Given the description of an element on the screen output the (x, y) to click on. 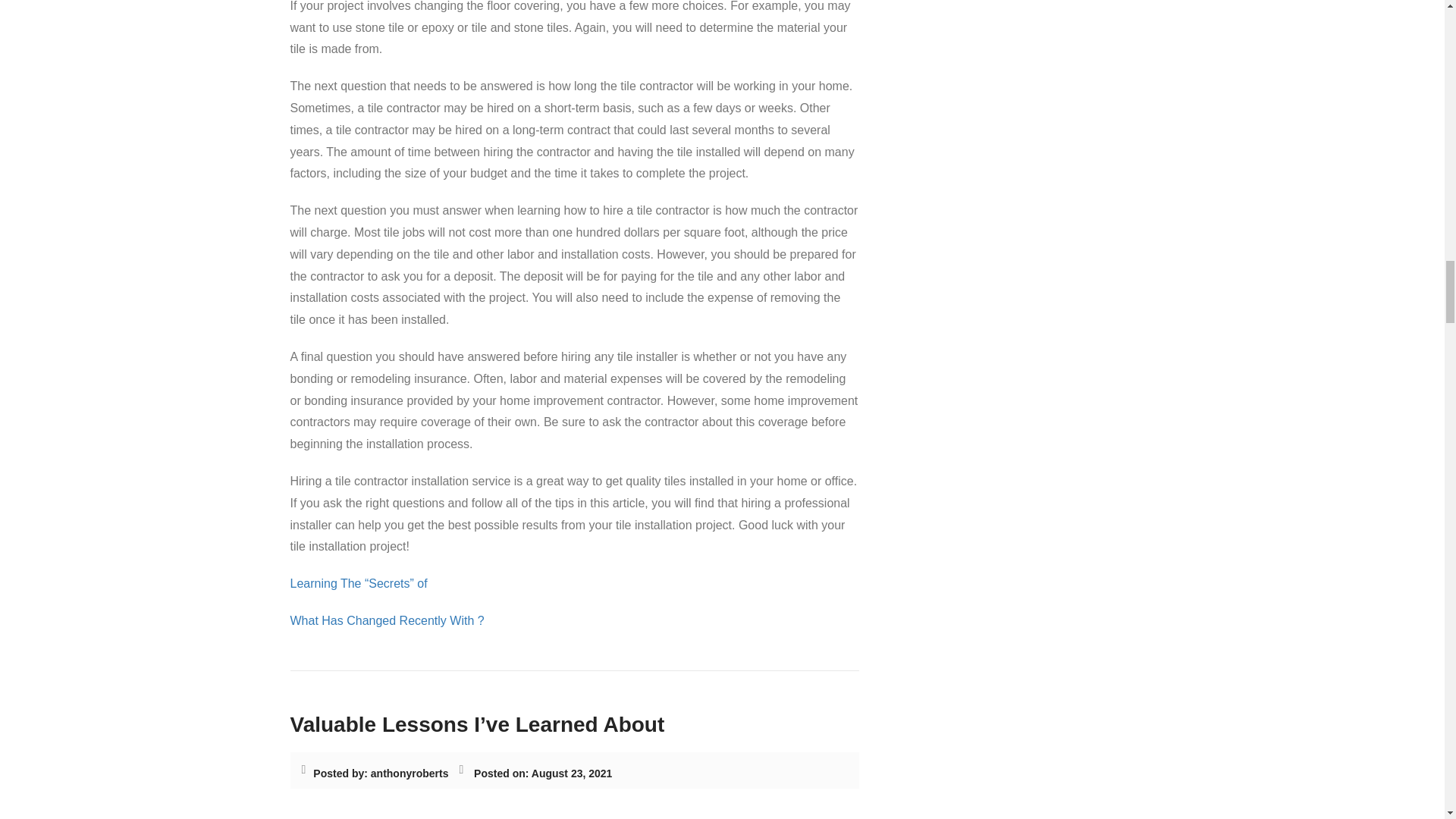
What Has Changed Recently With ? (386, 621)
Posted by: anthonyroberts (380, 773)
Posted on: August 23, 2021 (542, 773)
